Given the description of an element on the screen output the (x, y) to click on. 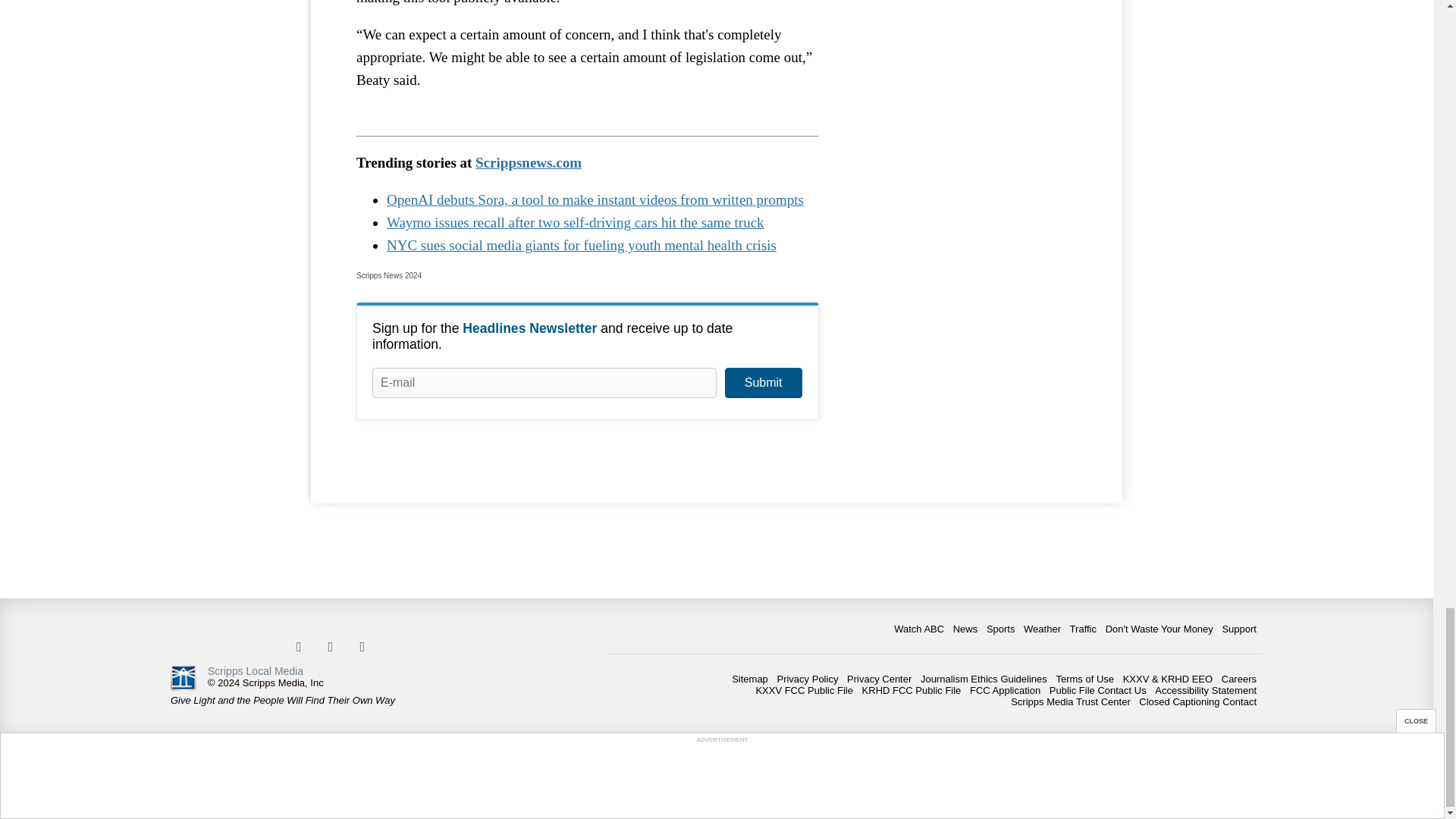
Submit (763, 382)
